Given the description of an element on the screen output the (x, y) to click on. 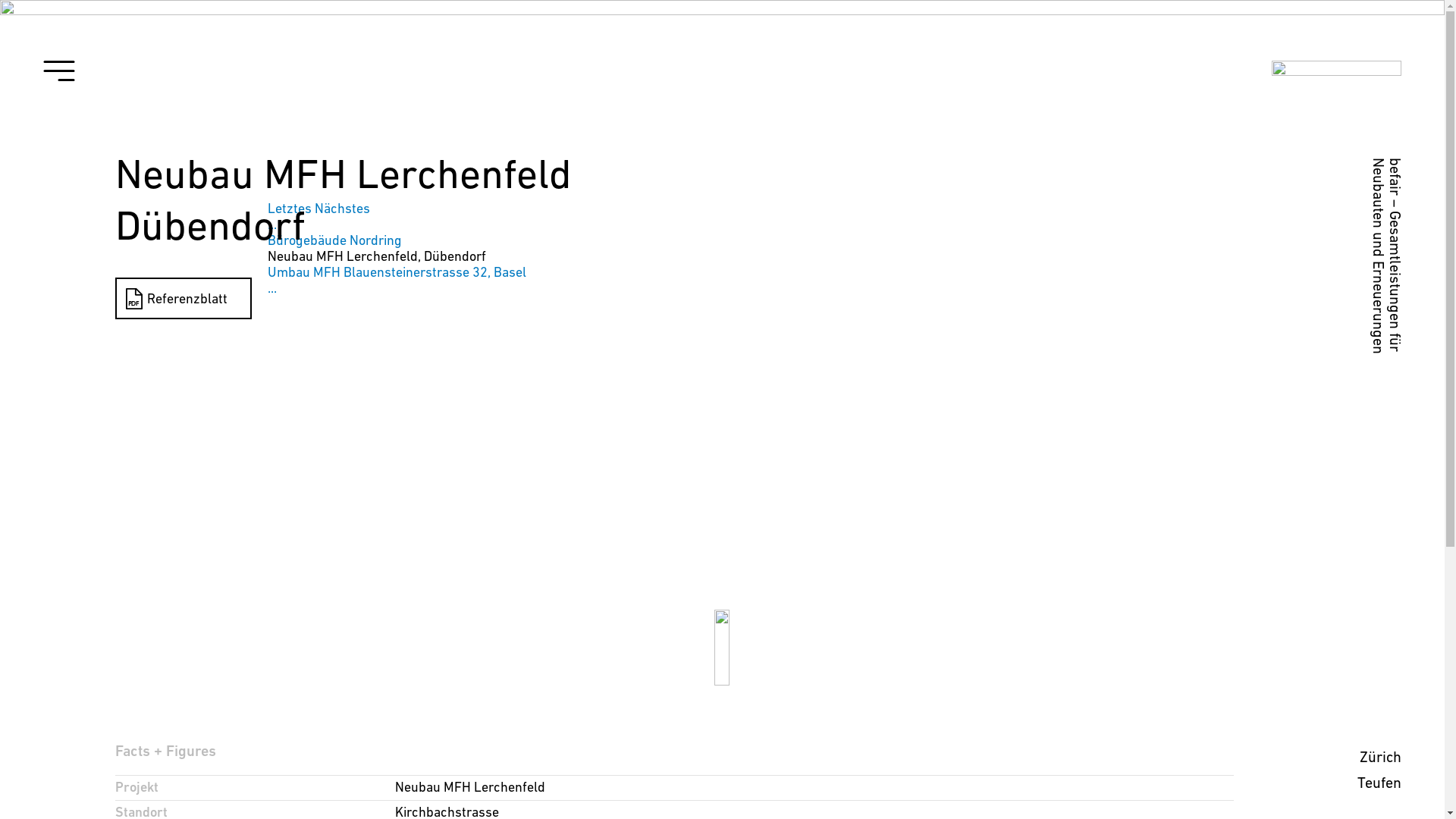
Umbau MFH Blauensteinerstrasse 32, Basel Element type: text (395, 271)
Letztes Element type: text (288, 208)
Teufen Element type: text (1379, 782)
... Element type: text (271, 224)
... Element type: text (271, 287)
Referenzblatt Element type: text (183, 298)
